Given the description of an element on the screen output the (x, y) to click on. 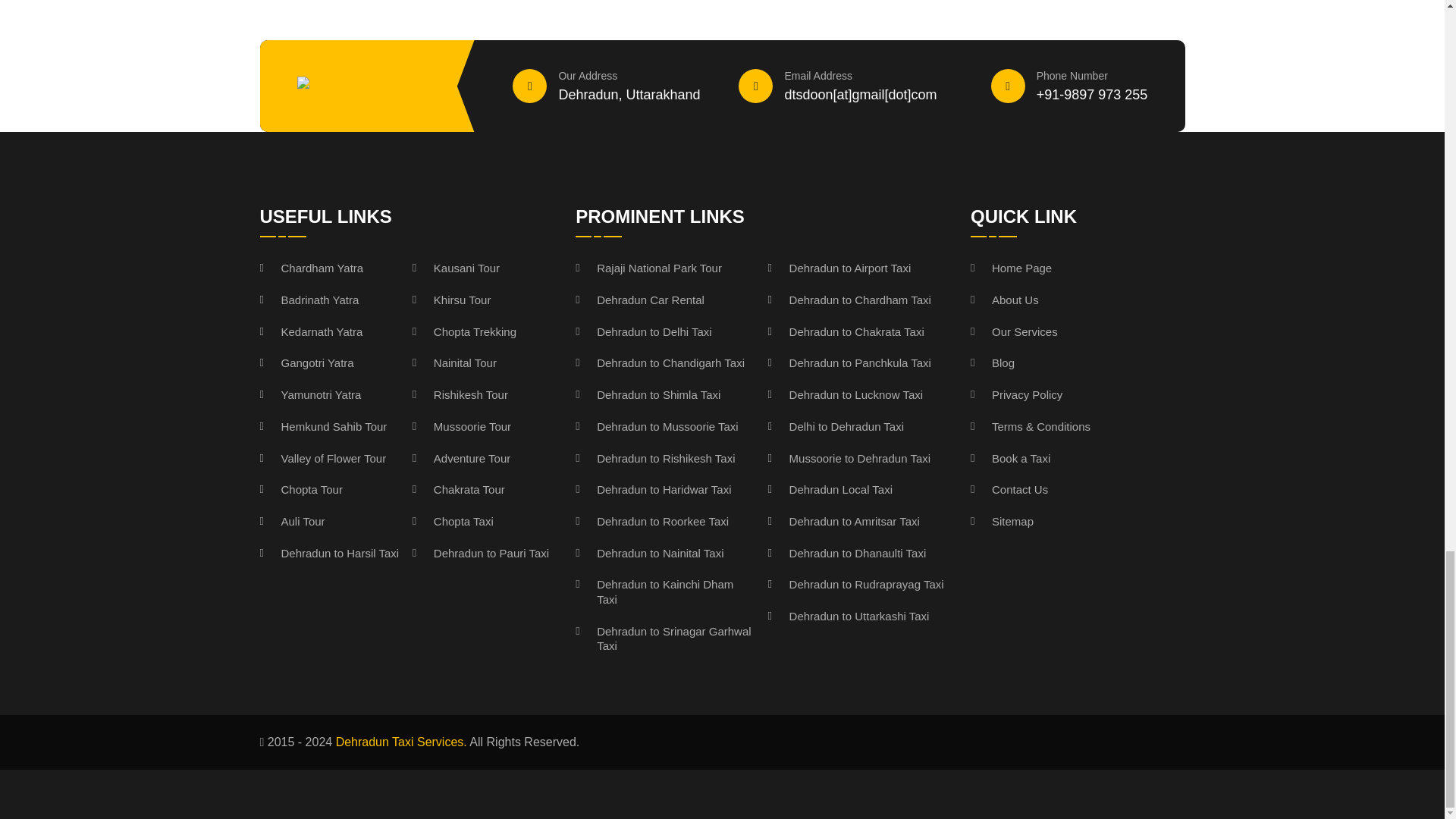
Chardham Yatra (310, 268)
Yamunotri Yatra (310, 394)
Kedarnath Yatra (310, 331)
Dehradun Taxi Services Logo (367, 86)
Badrinath Yatra (308, 299)
Gangotri Yatra (306, 363)
Hemkund Sahib Tour (323, 426)
